Given the description of an element on the screen output the (x, y) to click on. 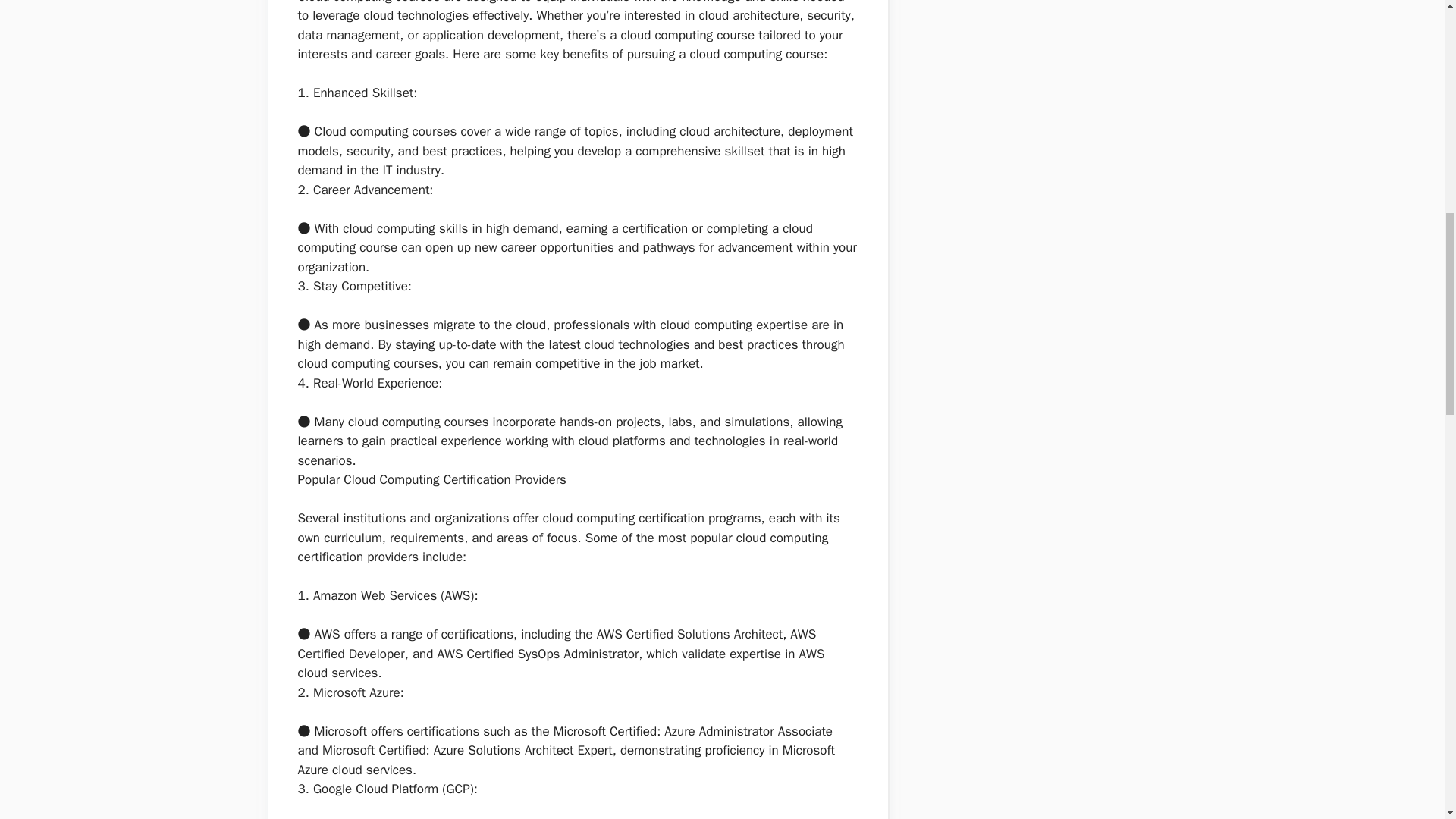
Scroll back to top (1406, 720)
